Given the description of an element on the screen output the (x, y) to click on. 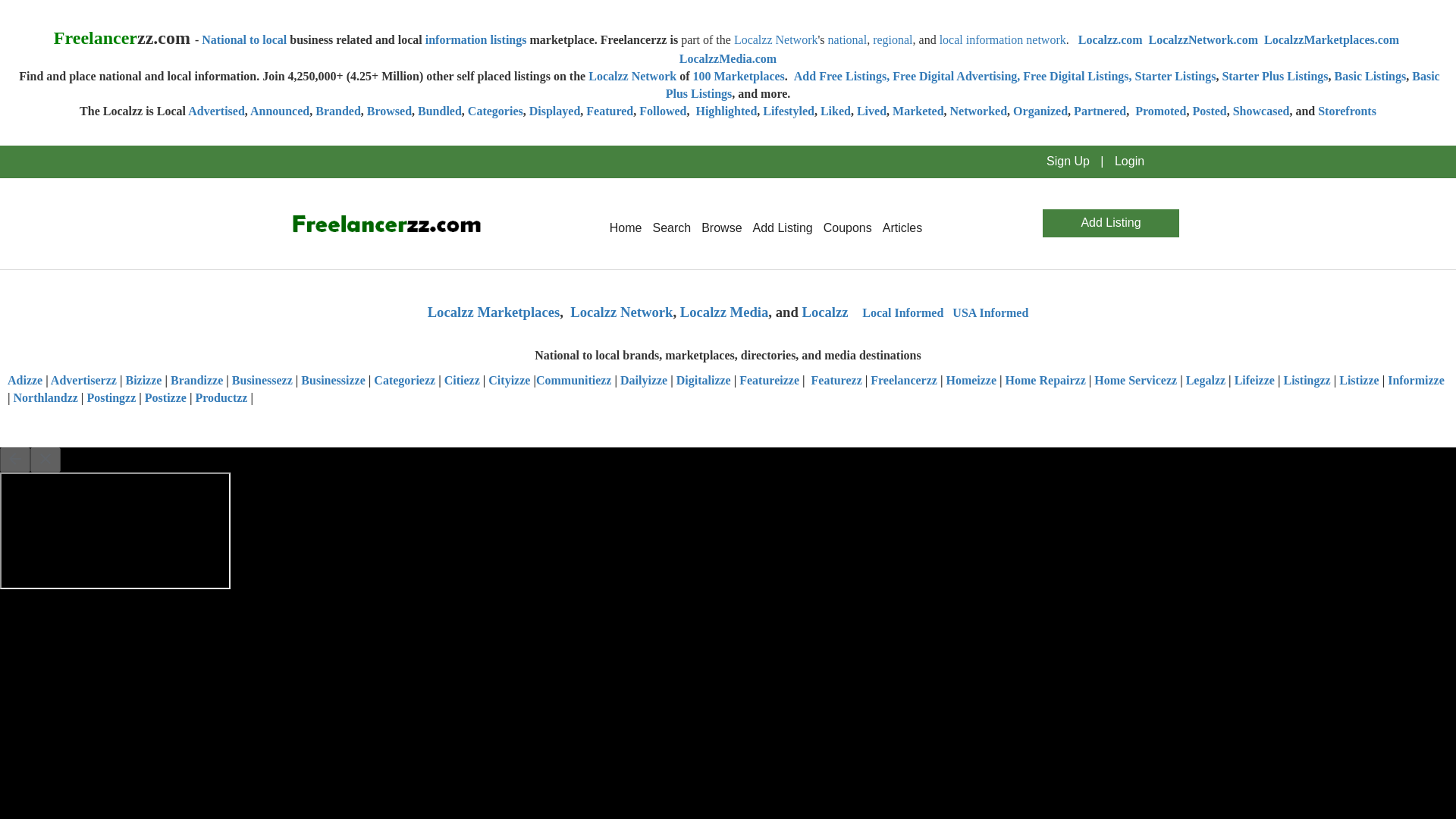
Free Digital Listings, (1077, 75)
Promoted (1160, 110)
Showcased (1261, 110)
Basic Plus Listings (1052, 84)
Localzz Network (632, 75)
Localzz.com (1110, 39)
LocalzzMedia.com (727, 58)
Starter Listings (1175, 75)
Starter Plus Listings (1274, 75)
Bundled (439, 110)
